Given the description of an element on the screen output the (x, y) to click on. 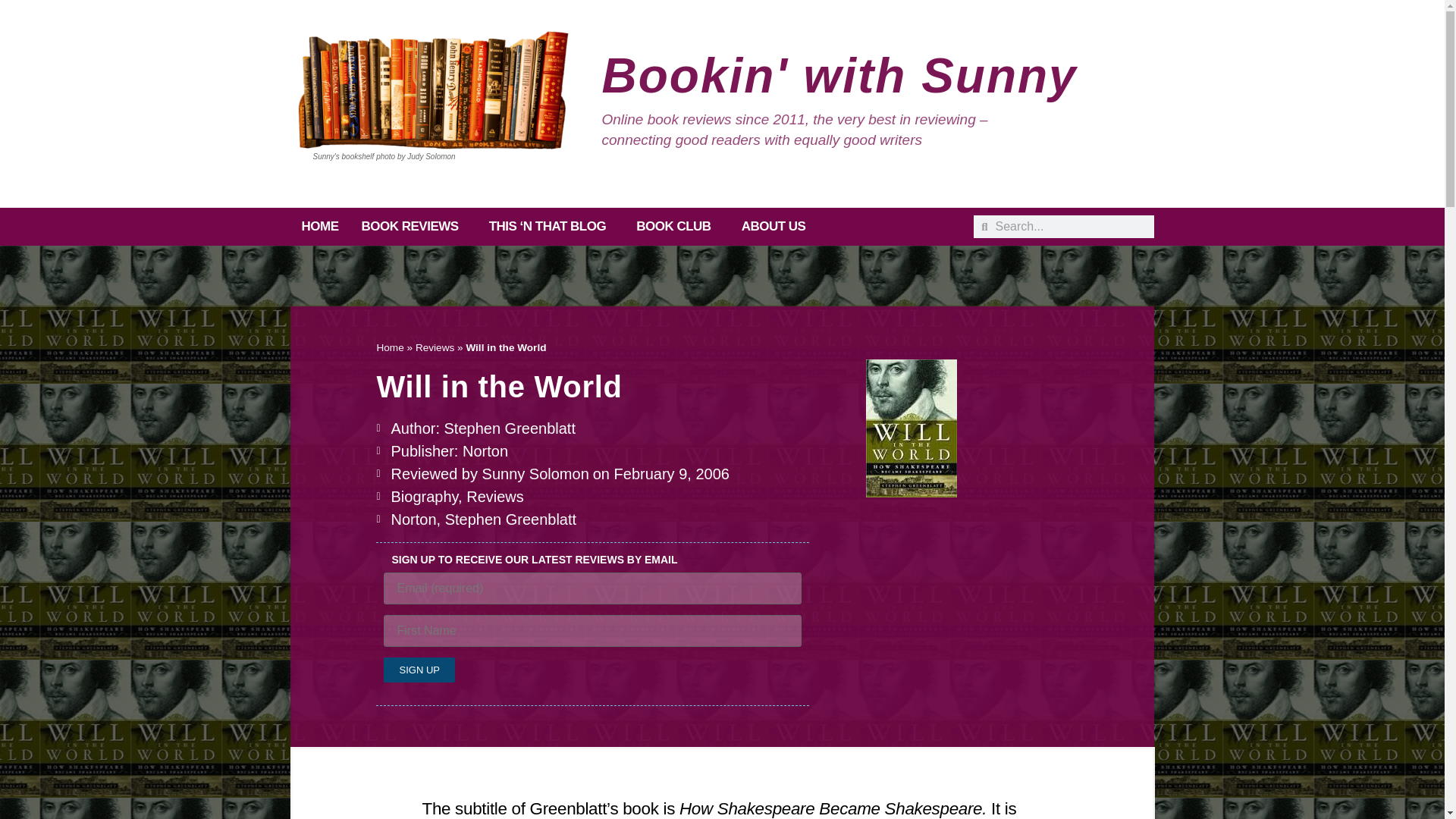
HOME (319, 226)
BOOK REVIEWS (413, 226)
BOOK CLUB (676, 226)
Bookin' with Sunny (839, 75)
